Given the description of an element on the screen output the (x, y) to click on. 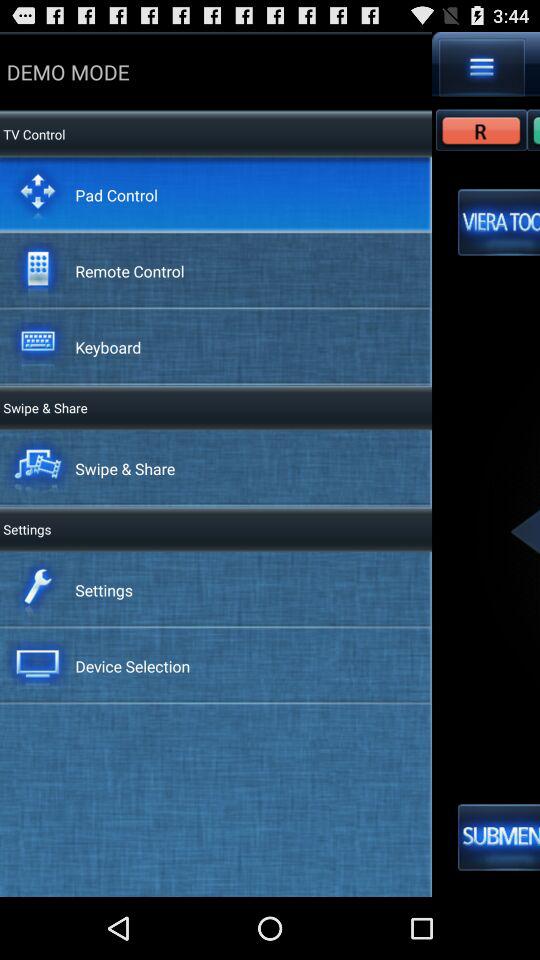
turn off remote control app (129, 270)
